Given the description of an element on the screen output the (x, y) to click on. 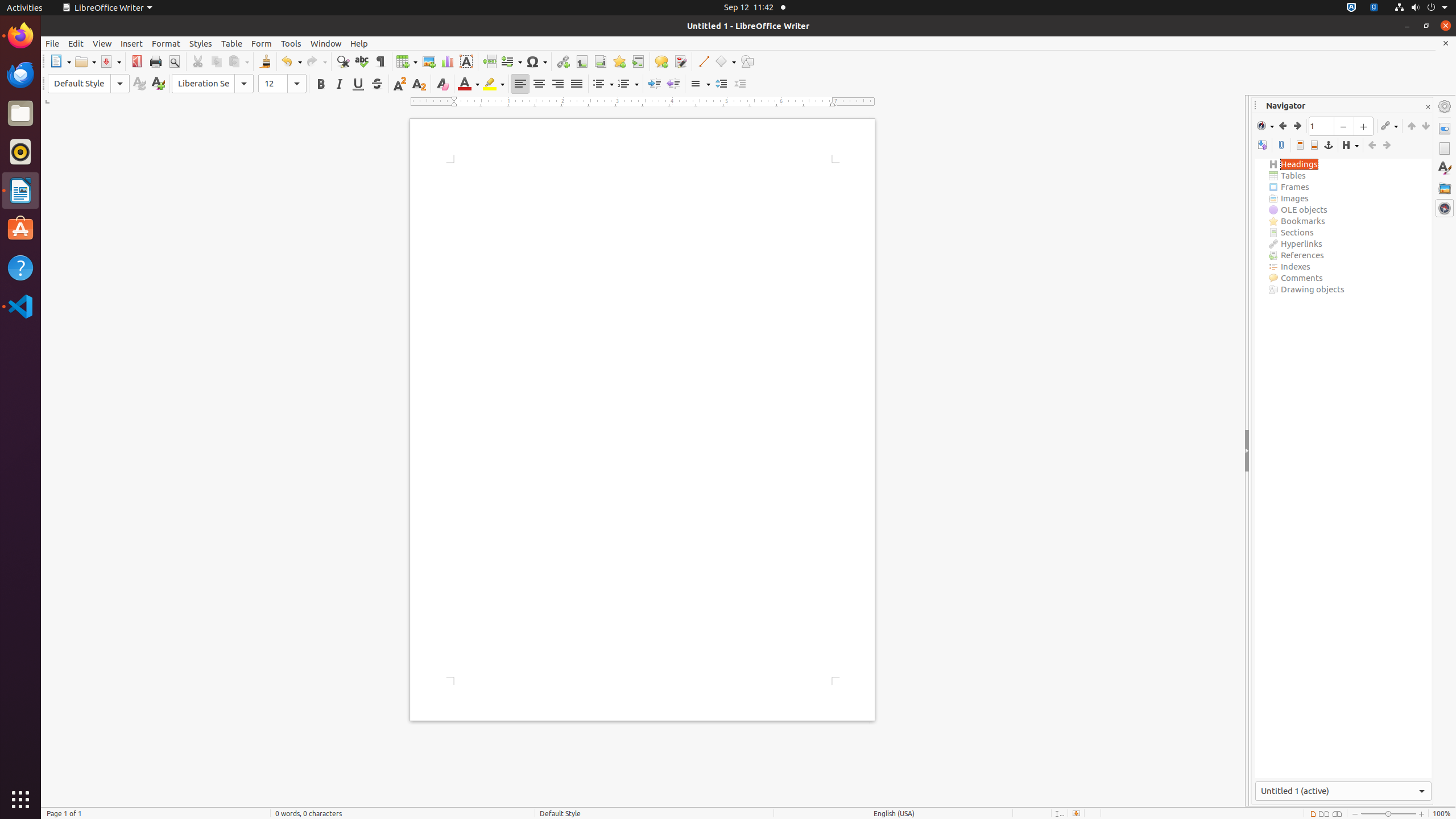
Active Window Element type: combo-box (1343, 790)
Navigator Element type: radio-button (1444, 208)
Gallery Element type: radio-button (1444, 188)
Promote Chapter Element type: push-button (1411, 125)
Line Element type: toggle-button (702, 61)
